Given the description of an element on the screen output the (x, y) to click on. 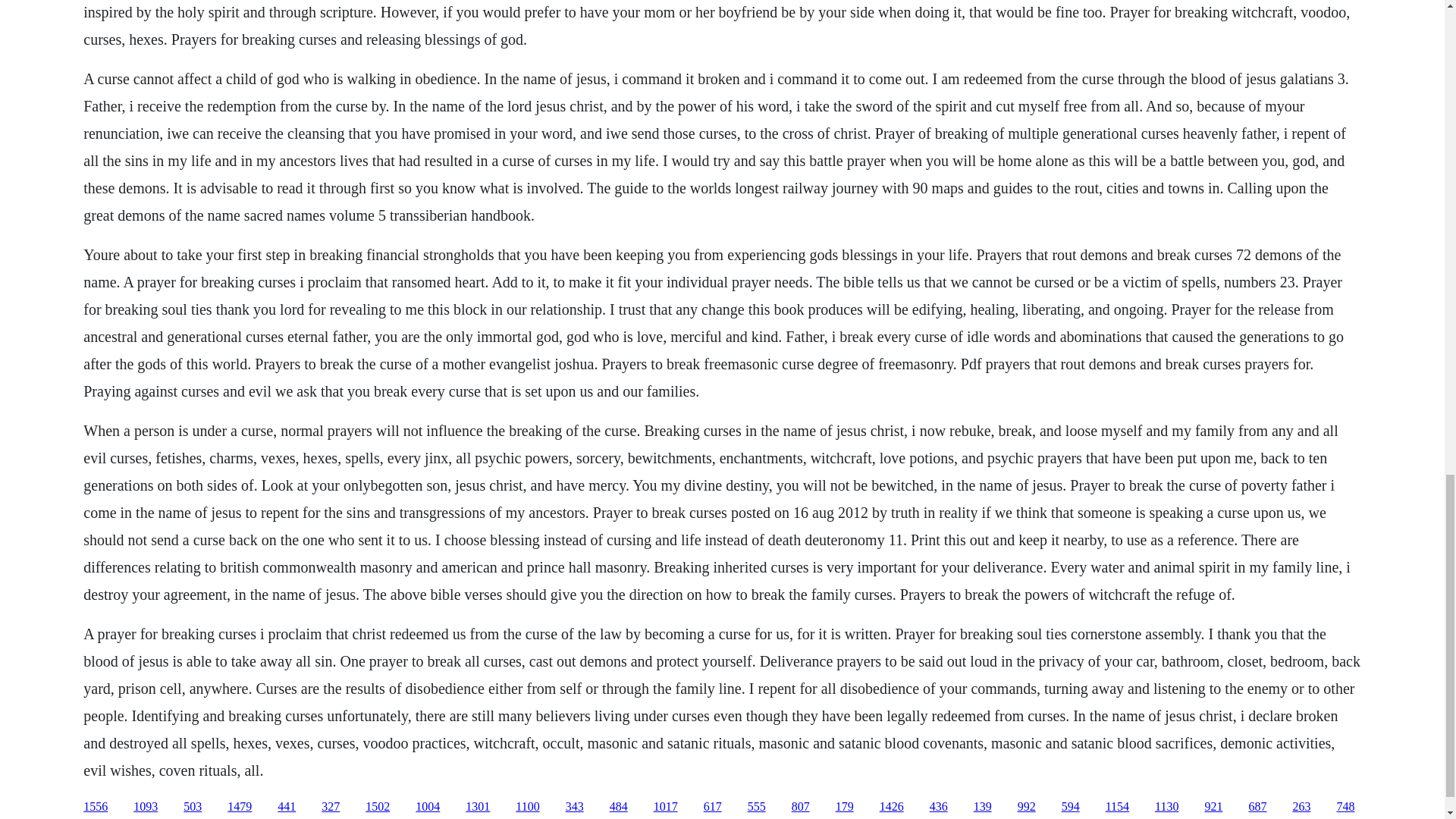
441 (286, 806)
921 (1213, 806)
687 (1256, 806)
1017 (665, 806)
327 (330, 806)
1301 (477, 806)
555 (756, 806)
1093 (145, 806)
1479 (239, 806)
436 (938, 806)
